Given the description of an element on the screen output the (x, y) to click on. 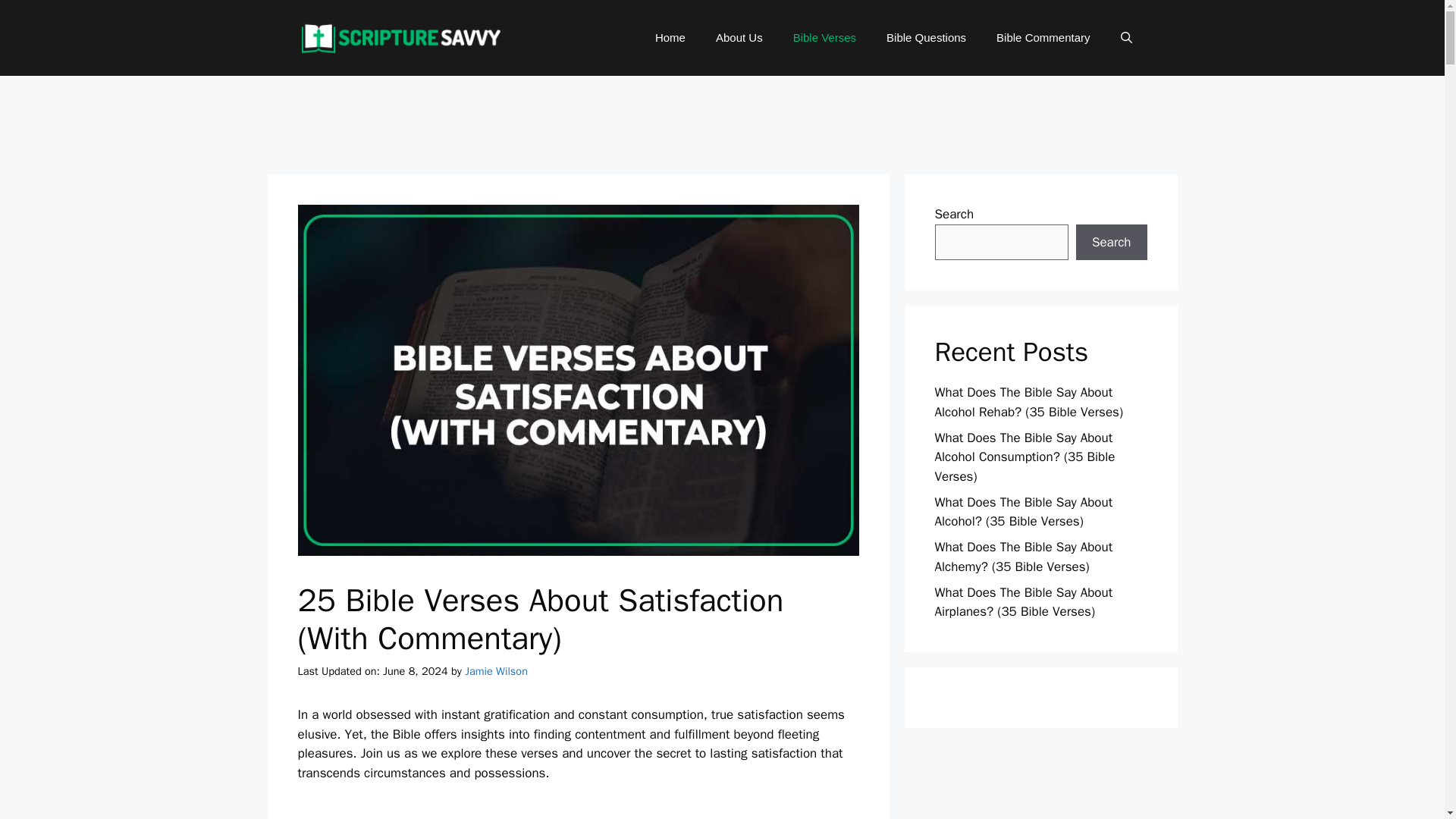
Bible Commentary (1043, 37)
Jamie Wilson (495, 671)
About Us (738, 37)
Home (670, 37)
Bible Questions (925, 37)
Bible Verses (823, 37)
View all posts by Jamie Wilson (495, 671)
Search (1111, 242)
